Given the description of an element on the screen output the (x, y) to click on. 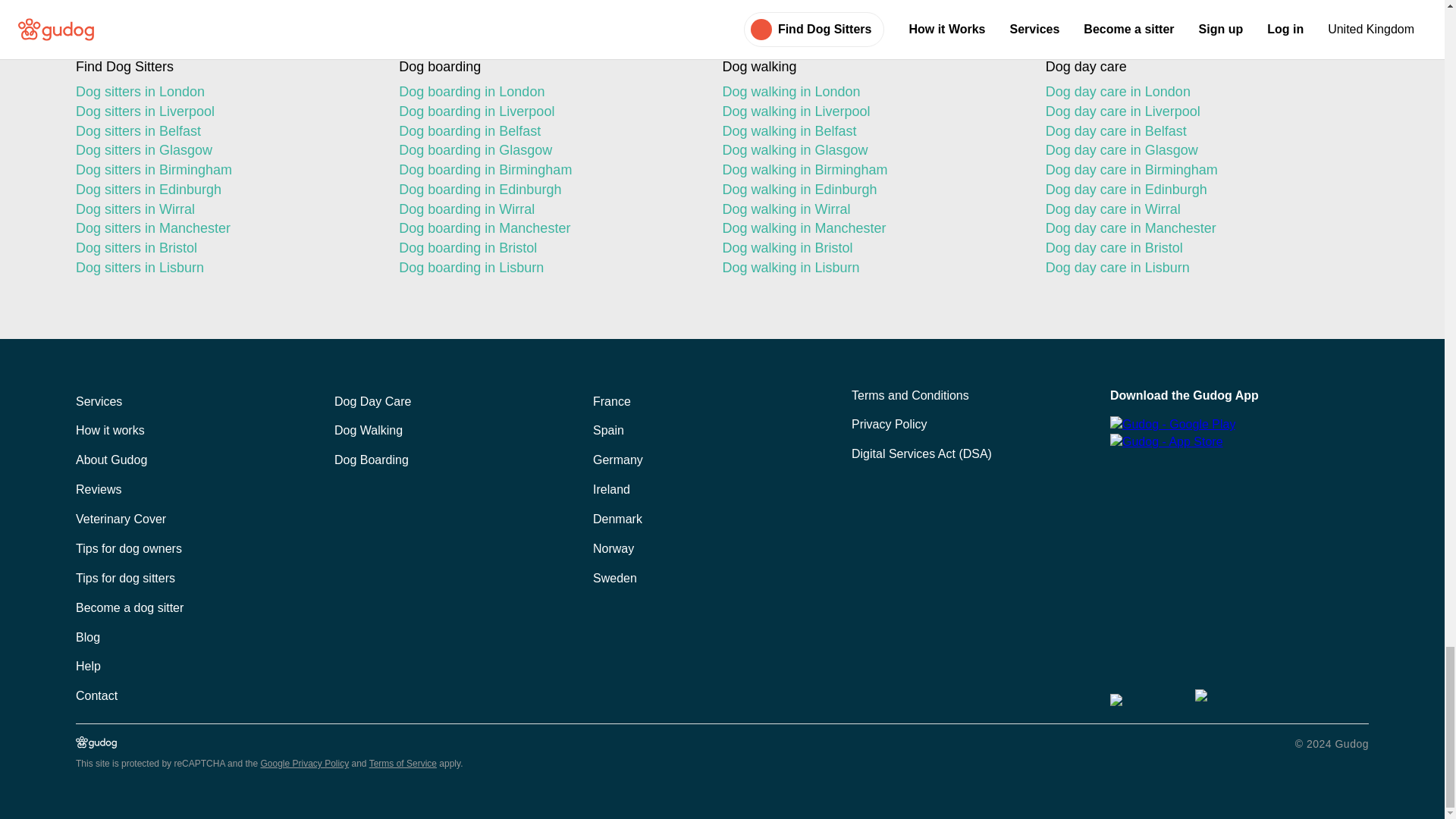
Dog boarding in Glasgow (547, 150)
Dog boarding in Wirral (547, 209)
Dog sitters in London (224, 92)
Dog boarding in Edinburgh (547, 189)
Dog sitters in Liverpool (224, 112)
Dog boarding in Birmingham (547, 170)
Dog sitters in Glasgow (224, 150)
Dog boarding in Manchester (547, 229)
Dog sitters in Belfast (224, 131)
Dog sitters in Lisburn (224, 268)
Dog sitters in Bristol (224, 248)
Dog boarding in London (547, 92)
Dog sitters in Edinburgh (224, 189)
Dog sitters in Lisburn (224, 268)
Dog sitters in Wirral (224, 209)
